Given the description of an element on the screen output the (x, y) to click on. 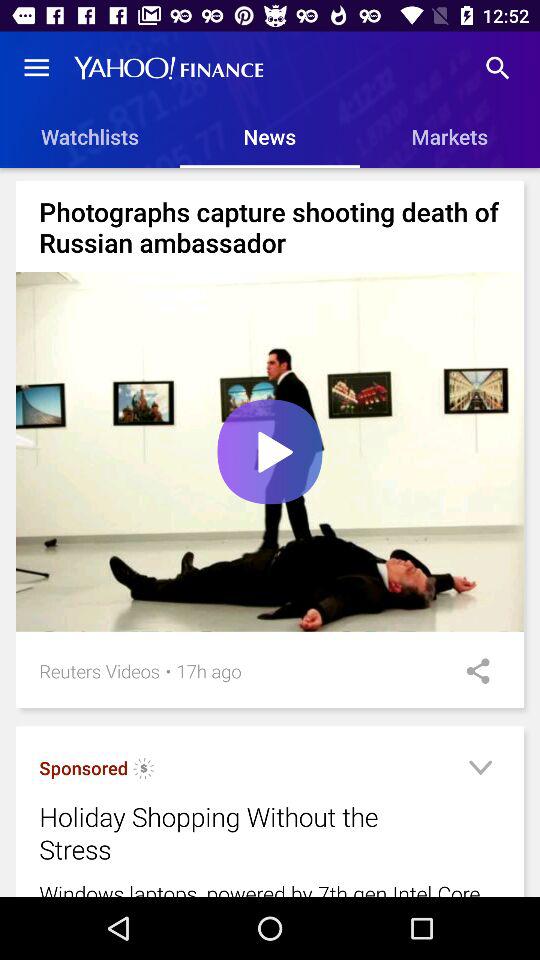
launch 17h ago (208, 670)
